Given the description of an element on the screen output the (x, y) to click on. 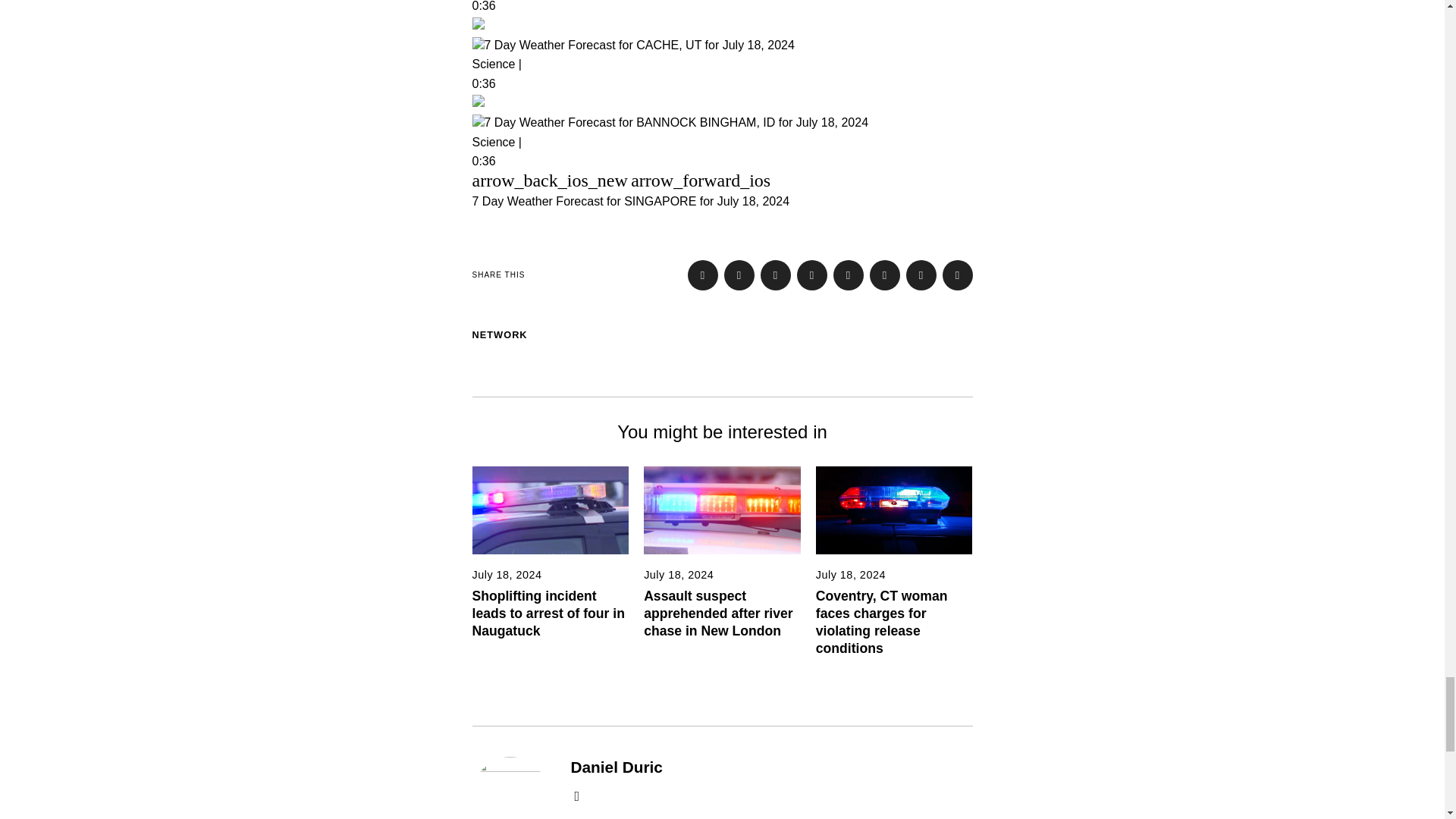
NETWORK (499, 334)
Assault suspect apprehended after river chase in New London (718, 613)
Shoplifting incident leads to arrest of four in Naugatuck (547, 613)
